Given the description of an element on the screen output the (x, y) to click on. 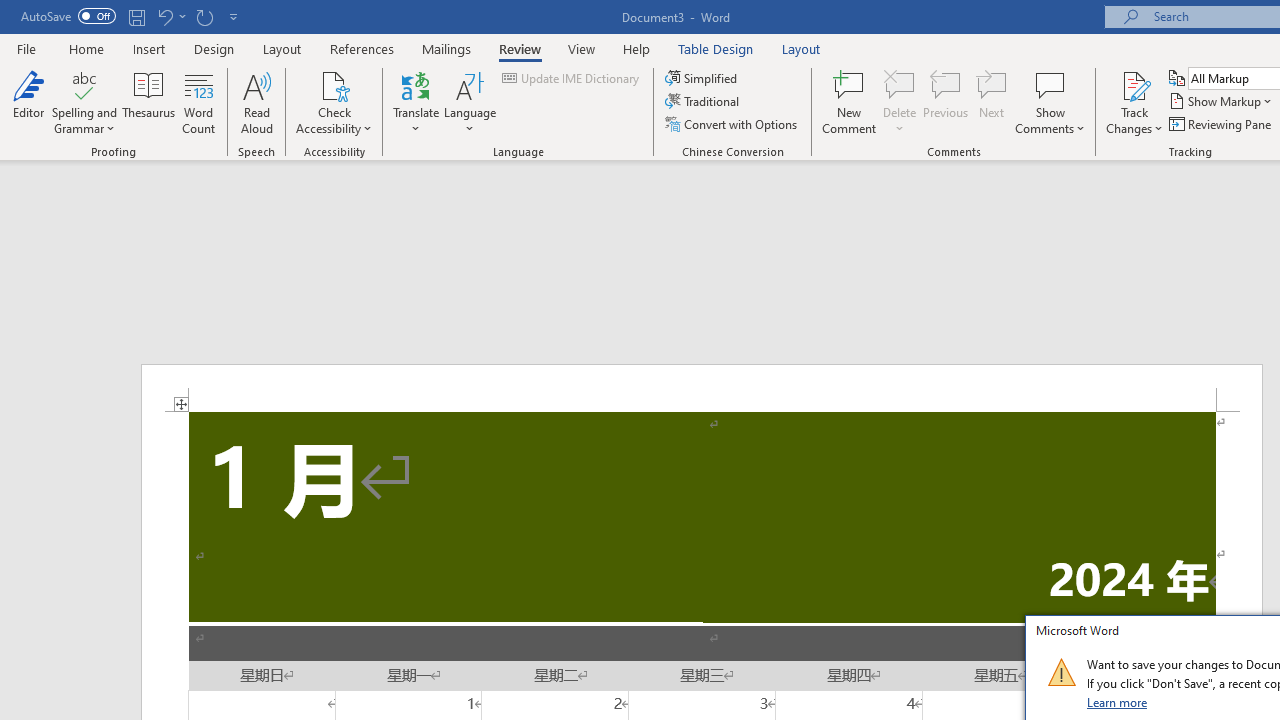
Word Count (198, 102)
Show Comments (1050, 84)
Spelling and Grammar (84, 84)
Previous (946, 102)
Show Markup (1222, 101)
Traditional (703, 101)
Read Aloud (256, 102)
Reviewing Pane (1221, 124)
Track Changes (1134, 84)
